Given the description of an element on the screen output the (x, y) to click on. 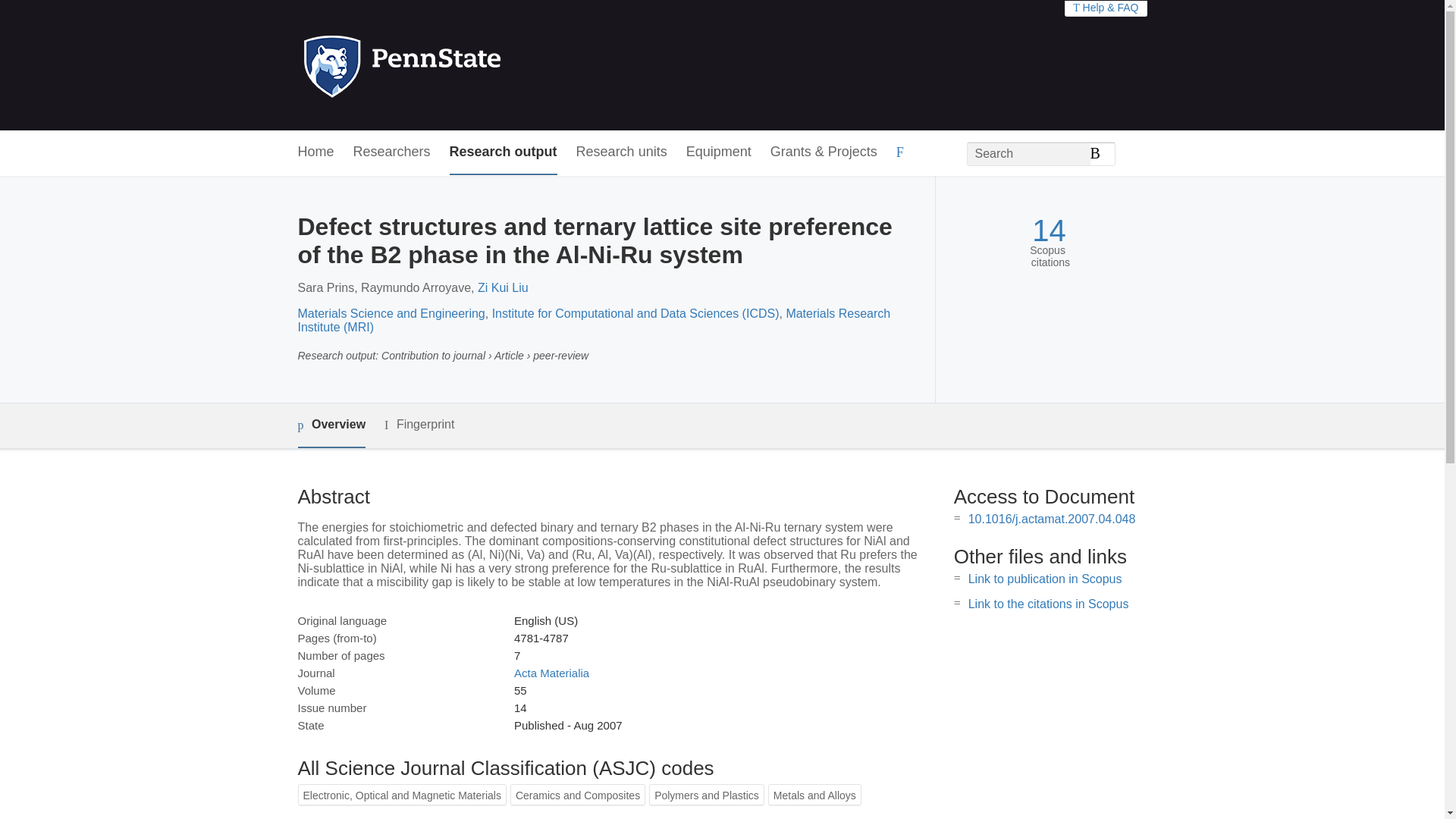
Zi Kui Liu (502, 287)
Equipment (718, 152)
Research units (621, 152)
Penn State Home (467, 65)
Researchers (391, 152)
Overview (331, 425)
Link to the citations in Scopus (1048, 603)
14 (1048, 230)
Link to publication in Scopus (1045, 578)
Materials Science and Engineering (390, 313)
Fingerprint (419, 424)
Acta Materialia (551, 672)
Research output (503, 152)
